Given the description of an element on the screen output the (x, y) to click on. 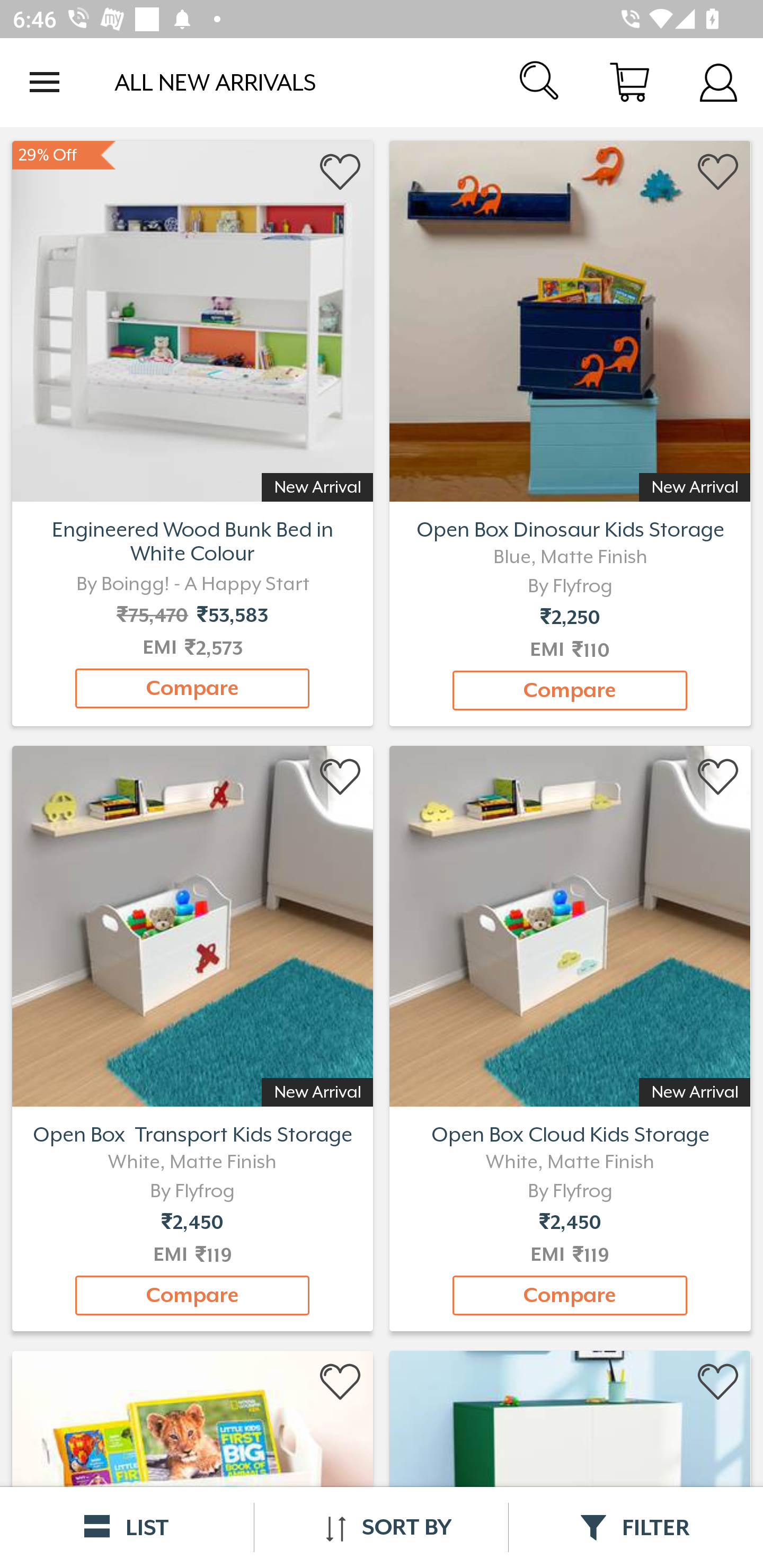
Open navigation drawer (44, 82)
Search (540, 81)
Cart (629, 81)
Account Details (718, 81)
 (341, 172)
 (718, 172)
Compare (192, 687)
Compare (569, 690)
 (341, 777)
 (718, 777)
Compare (192, 1295)
Compare (569, 1295)
 (341, 1382)
 (718, 1382)
 LIST (127, 1527)
SORT BY (381, 1527)
 FILTER (635, 1527)
